Given the description of an element on the screen output the (x, y) to click on. 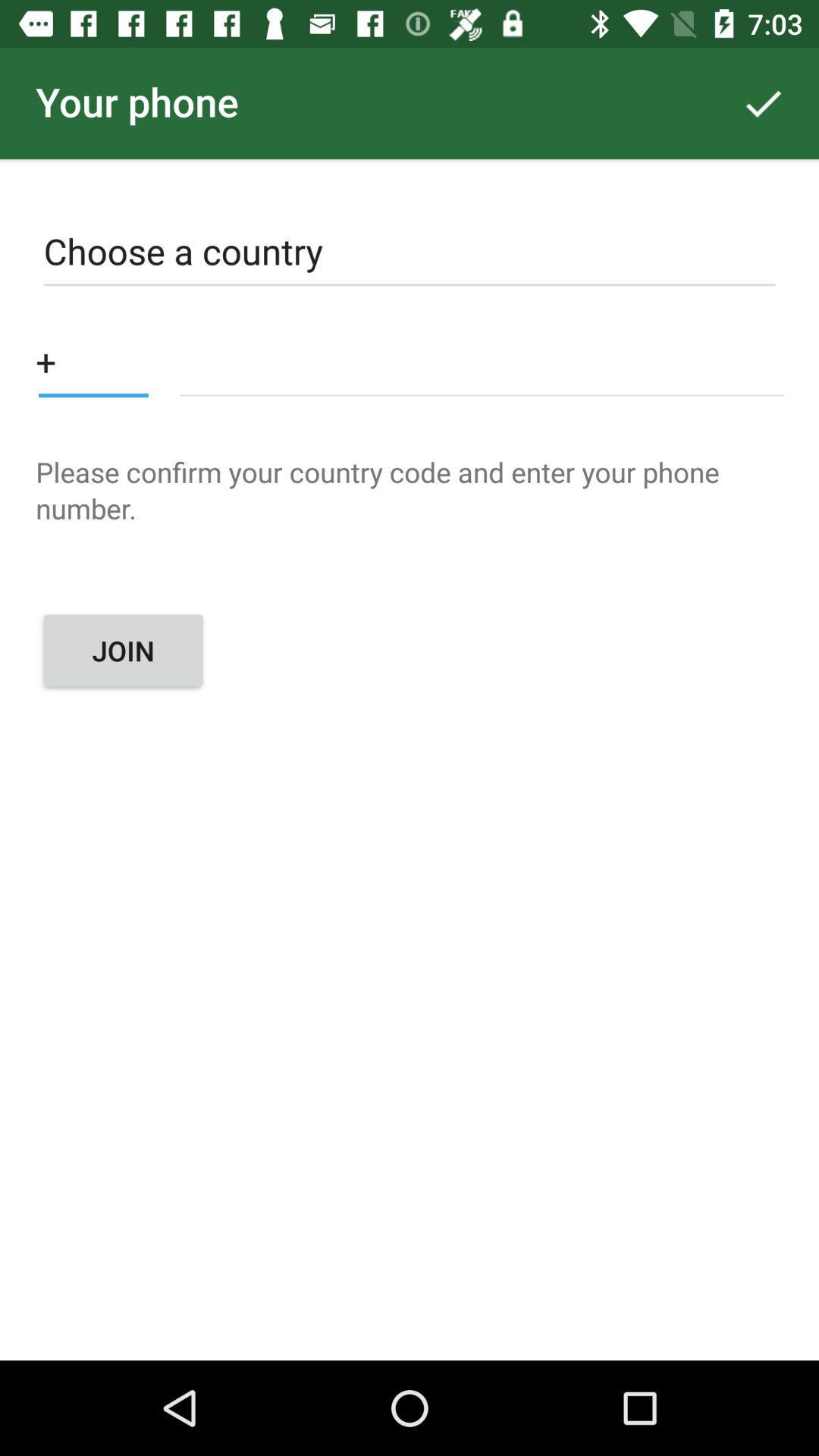
flip until join item (123, 650)
